Given the description of an element on the screen output the (x, y) to click on. 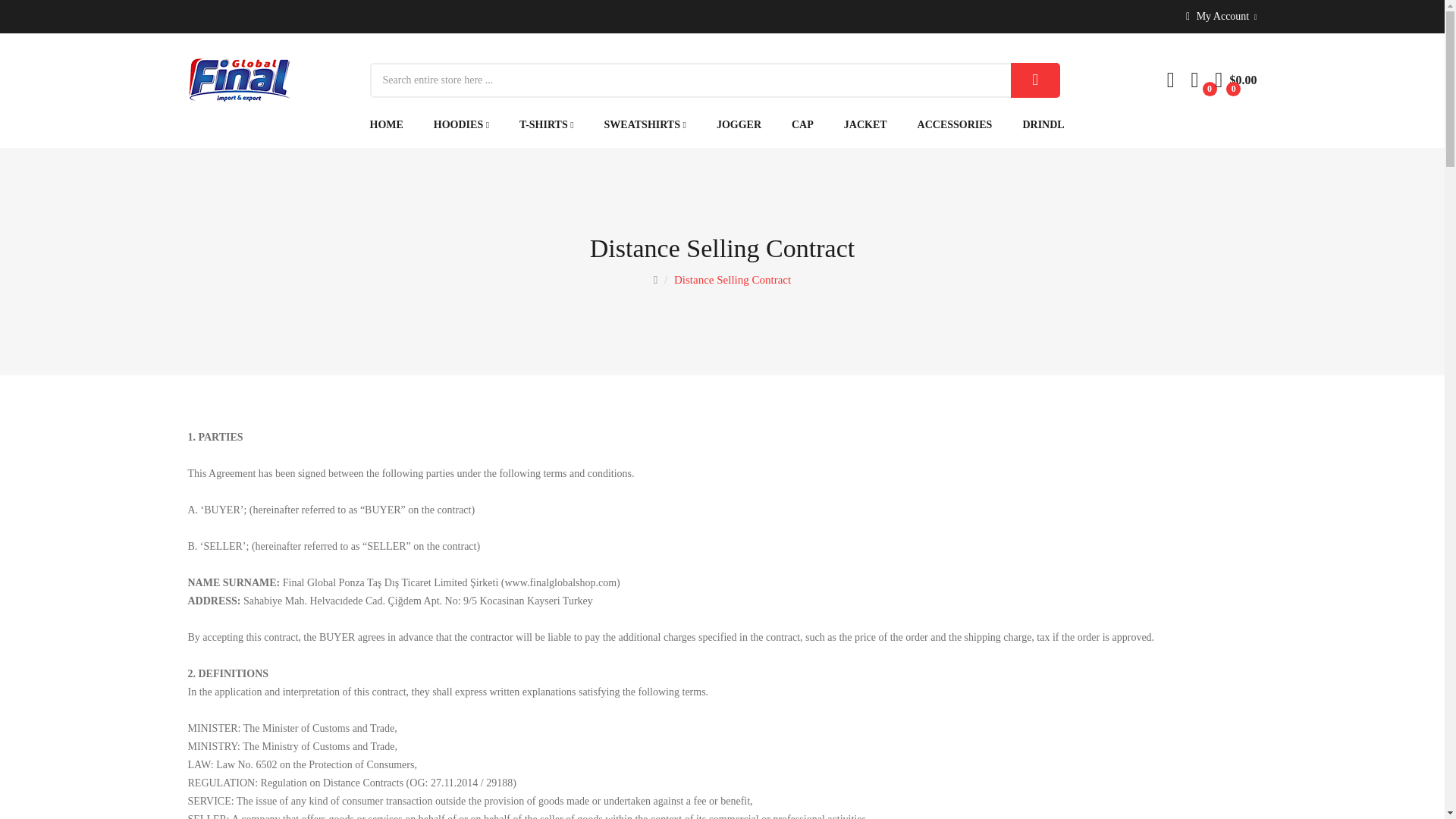
My Account (1221, 16)
My Account (1221, 16)
T-SHIRTS (545, 125)
HOME (394, 125)
HOODIES (461, 125)
